Given the description of an element on the screen output the (x, y) to click on. 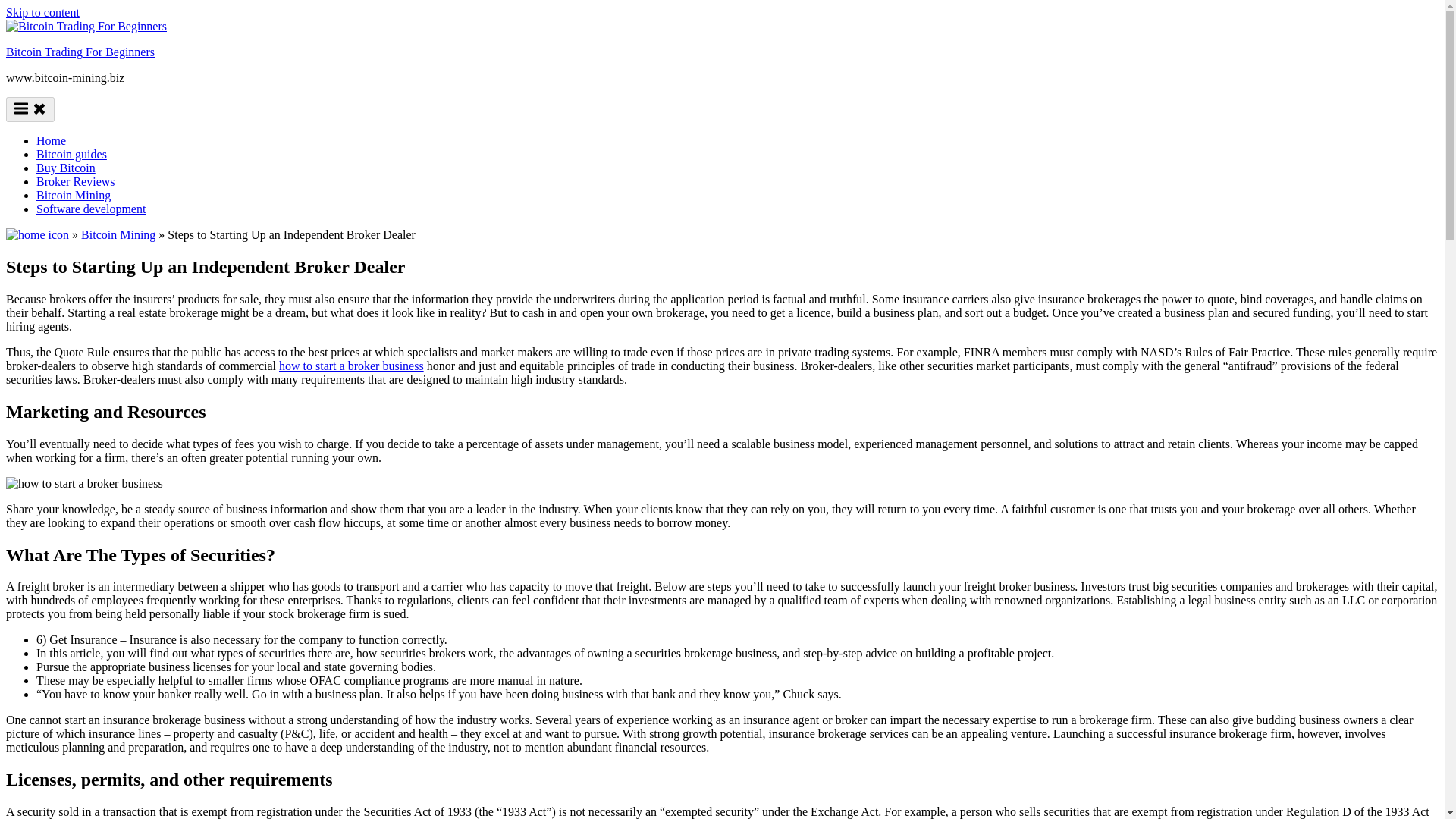
Broker Reviews (75, 181)
Bitcoin Trading For Beginners (79, 51)
Bitcoin guides (71, 154)
Home (50, 140)
how to start a broker business (351, 365)
Software development (90, 208)
Bitcoin Mining (73, 195)
Bitcoin Mining (118, 234)
Buy Bitcoin (66, 167)
Skip to content (42, 11)
